Given the description of an element on the screen output the (x, y) to click on. 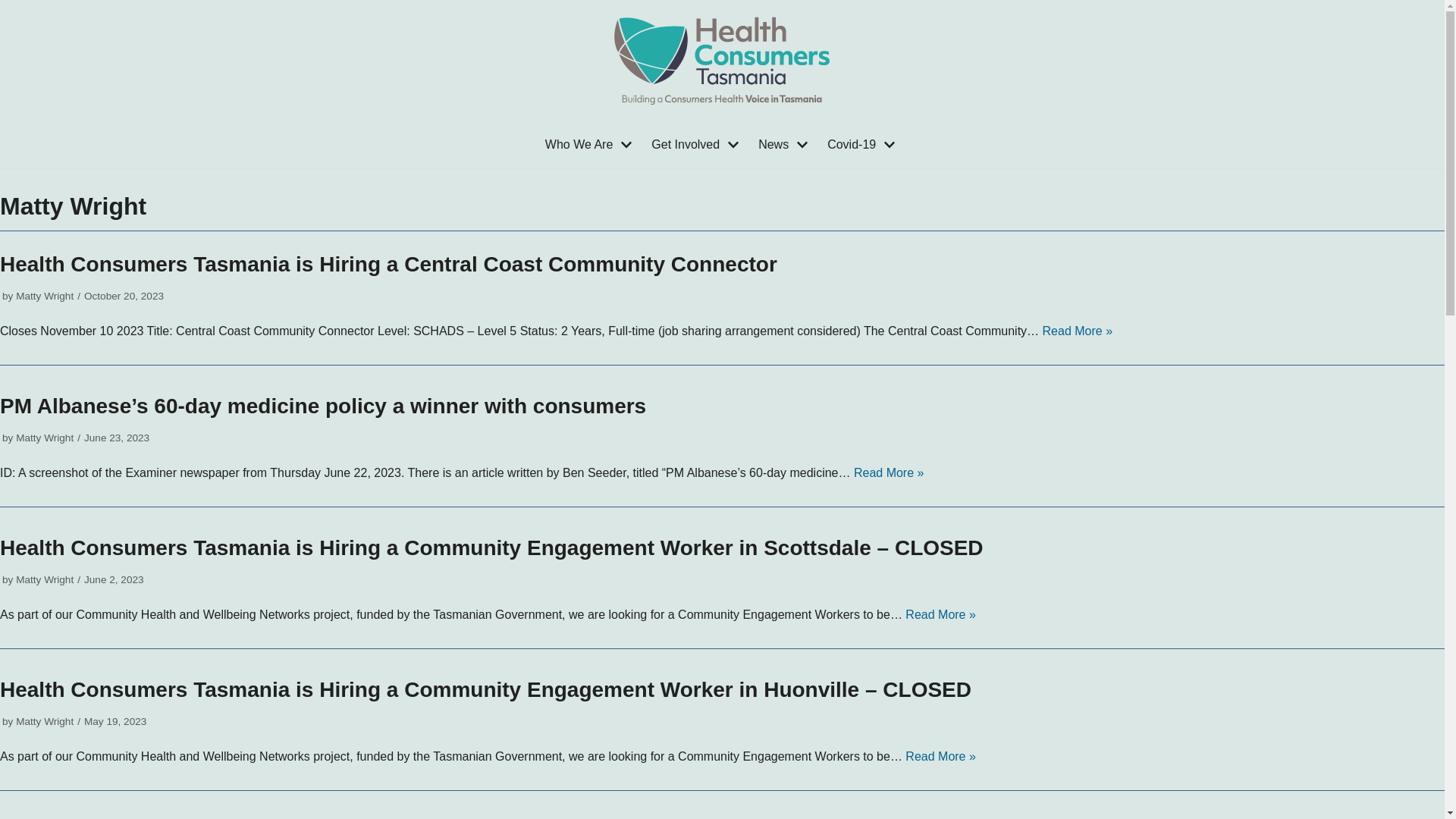
Skip to content Element type: text (15, 7)
Matty Wright Element type: text (44, 295)
Matty Wright Element type: text (44, 721)
Matty Wright Element type: text (44, 579)
Get Involved Element type: text (697, 144)
Who We Are Element type: text (591, 144)
Covid-19 Element type: text (863, 144)
News Element type: text (785, 144)
Matty Wright Element type: text (44, 437)
Health Consumers Tasmania Element type: hover (721, 60)
